Given the description of an element on the screen output the (x, y) to click on. 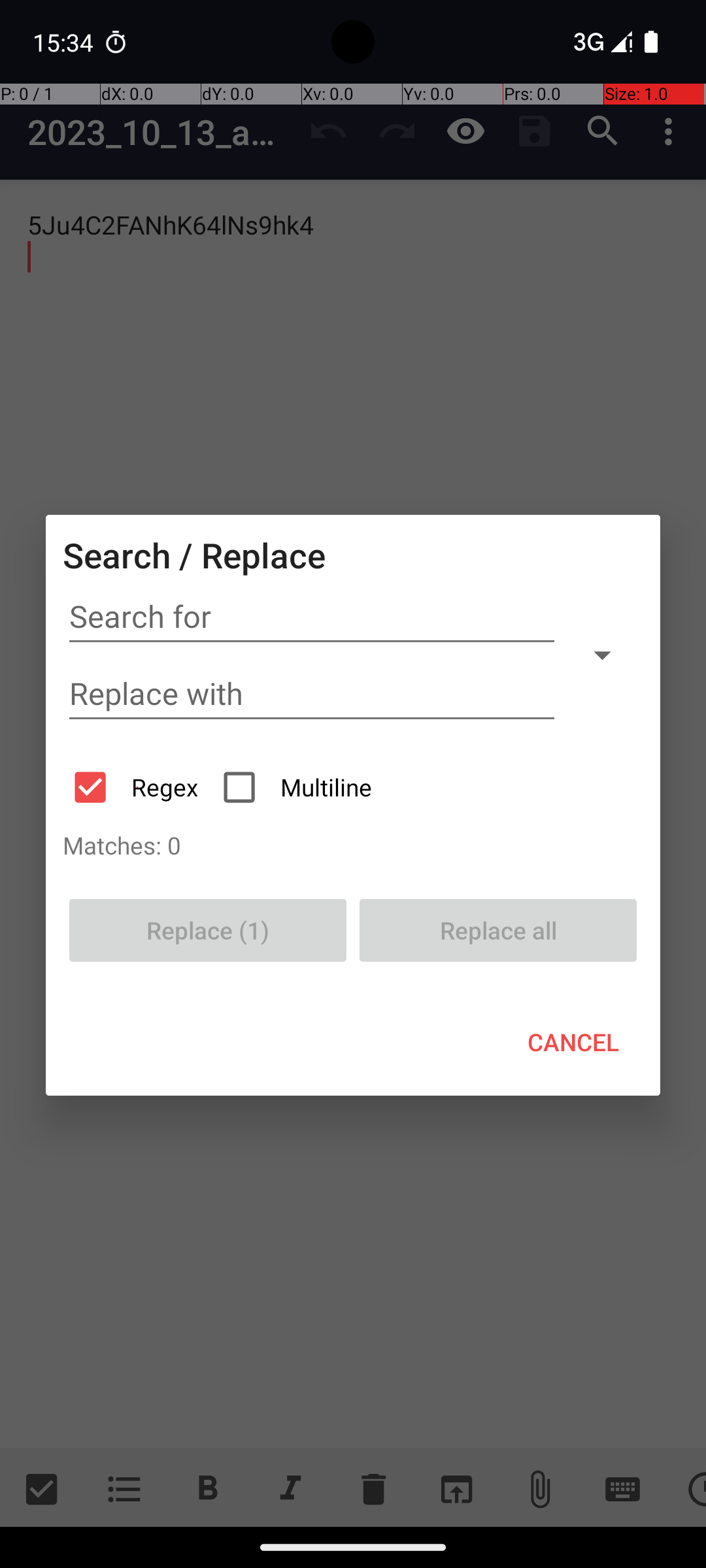
Search / Replace Element type: android.widget.TextView (193, 554)
Search for Element type: android.widget.EditText (311, 616)
Replace with Element type: android.widget.EditText (311, 693)
Regex Element type: android.widget.CheckBox (136, 786)
Multiline Element type: android.widget.CheckBox (298, 786)
Matches: 0 Element type: android.widget.TextView (352, 844)
Replace (1) Element type: android.widget.Button (207, 930)
Replace all Element type: android.widget.Button (498, 930)
